Given the description of an element on the screen output the (x, y) to click on. 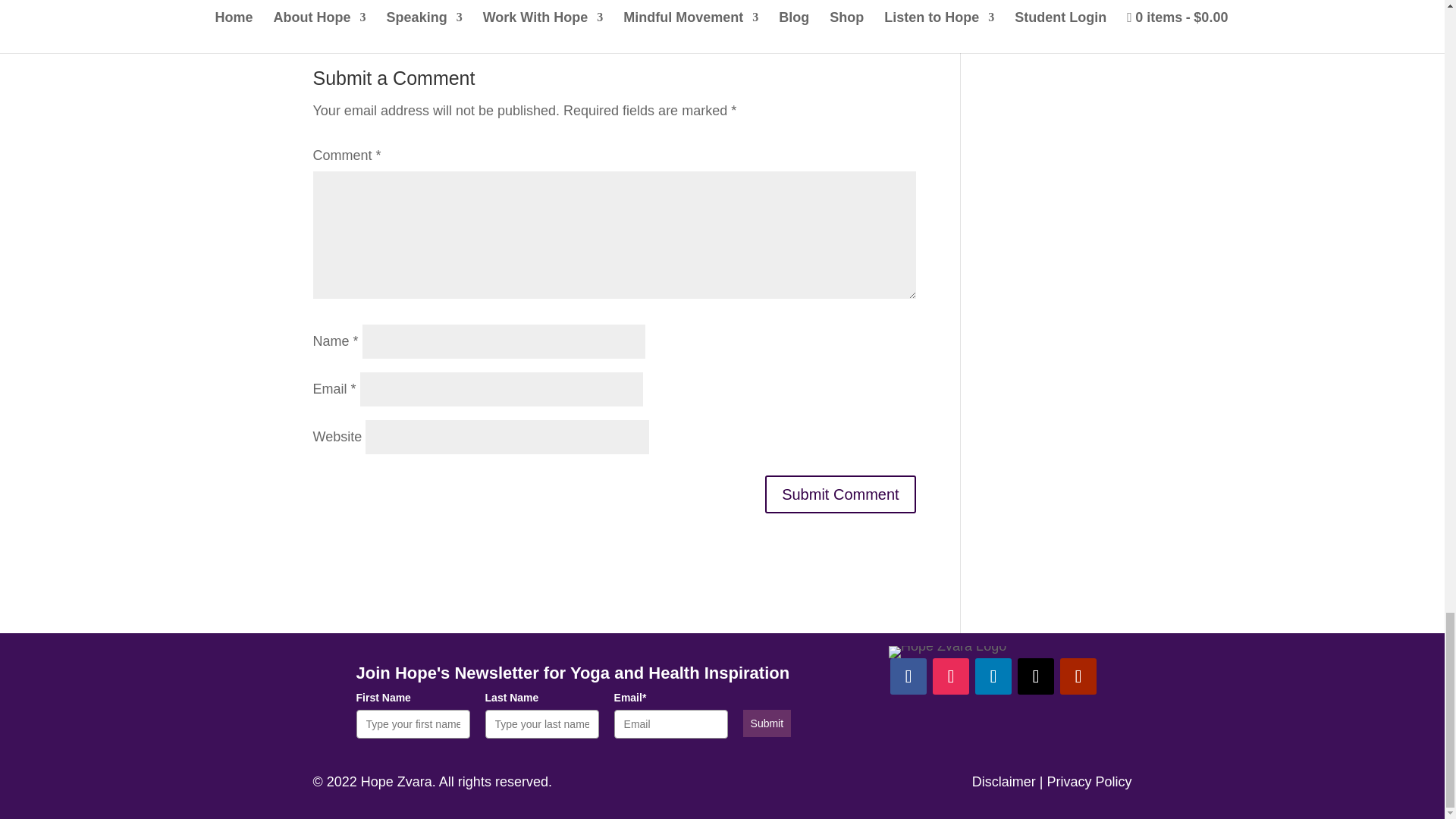
Follow on X (1035, 676)
Submit Comment (840, 494)
Follow on Youtube (1077, 676)
Follow on Facebook (907, 676)
Hope Zvara Rebrand FINALS- white logo with butterfly (947, 652)
Follow on LinkedIn (993, 676)
Follow on Instagram (951, 676)
